Given the description of an element on the screen output the (x, y) to click on. 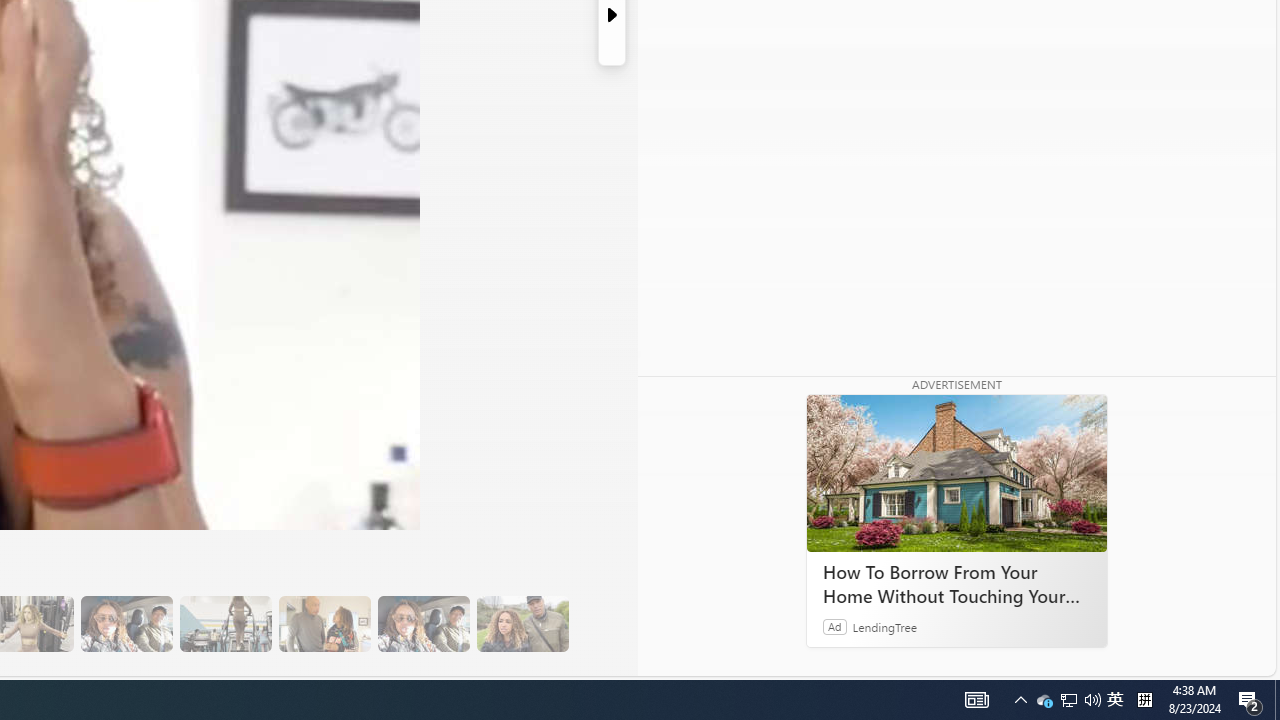
16 The Couple's Program Helps with Accountability (125, 624)
16 The Couple's Program Helps with Accountability (125, 624)
